Given the description of an element on the screen output the (x, y) to click on. 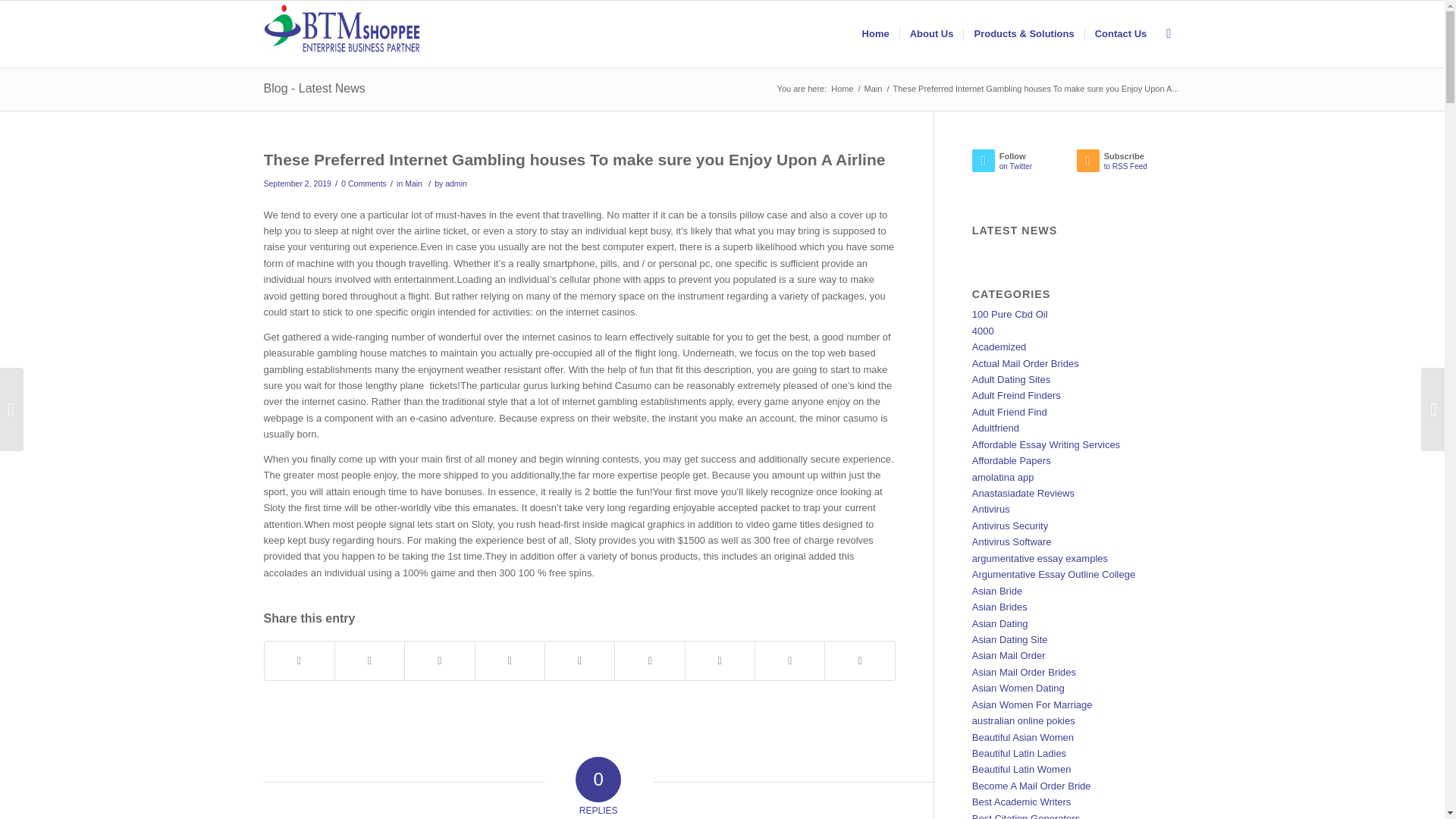
100 Pure Cbd Oil (1010, 314)
Permanent Link: Blog - Latest News (314, 88)
Main (413, 183)
Academized (999, 346)
amolatina app (1002, 477)
Anastasiadate Reviews (1023, 492)
Adult Dating Sites (1010, 378)
Posts by admin (456, 183)
btmshoppee (842, 89)
admin (456, 183)
Home (842, 89)
Adultfriend (995, 428)
About Us (931, 33)
